Given the description of an element on the screen output the (x, y) to click on. 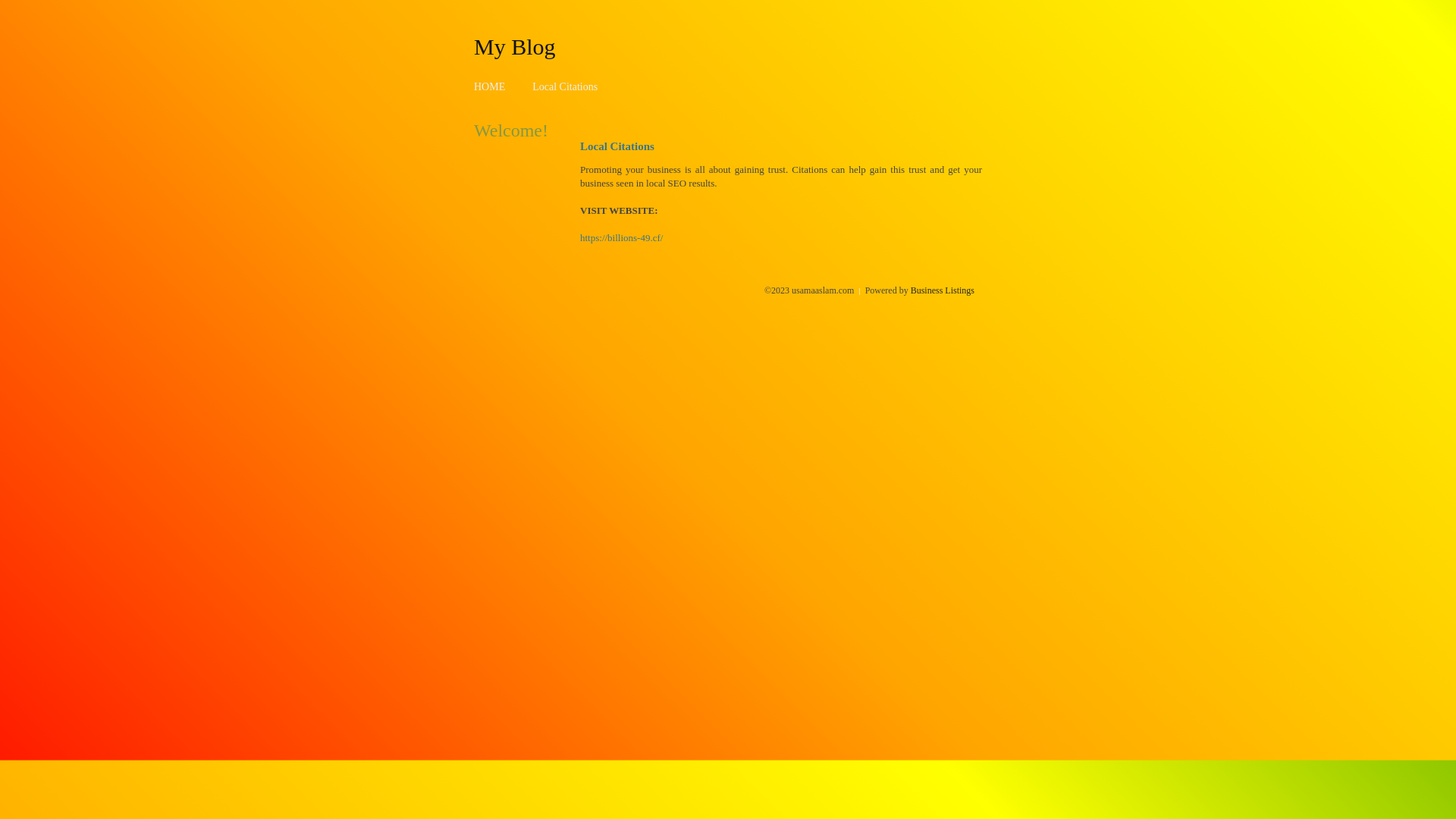
HOME Element type: text (489, 86)
https://billions-49.cf/ Element type: text (621, 237)
My Blog Element type: text (514, 46)
Local Citations Element type: text (564, 86)
Business Listings Element type: text (942, 290)
